Given the description of an element on the screen output the (x, y) to click on. 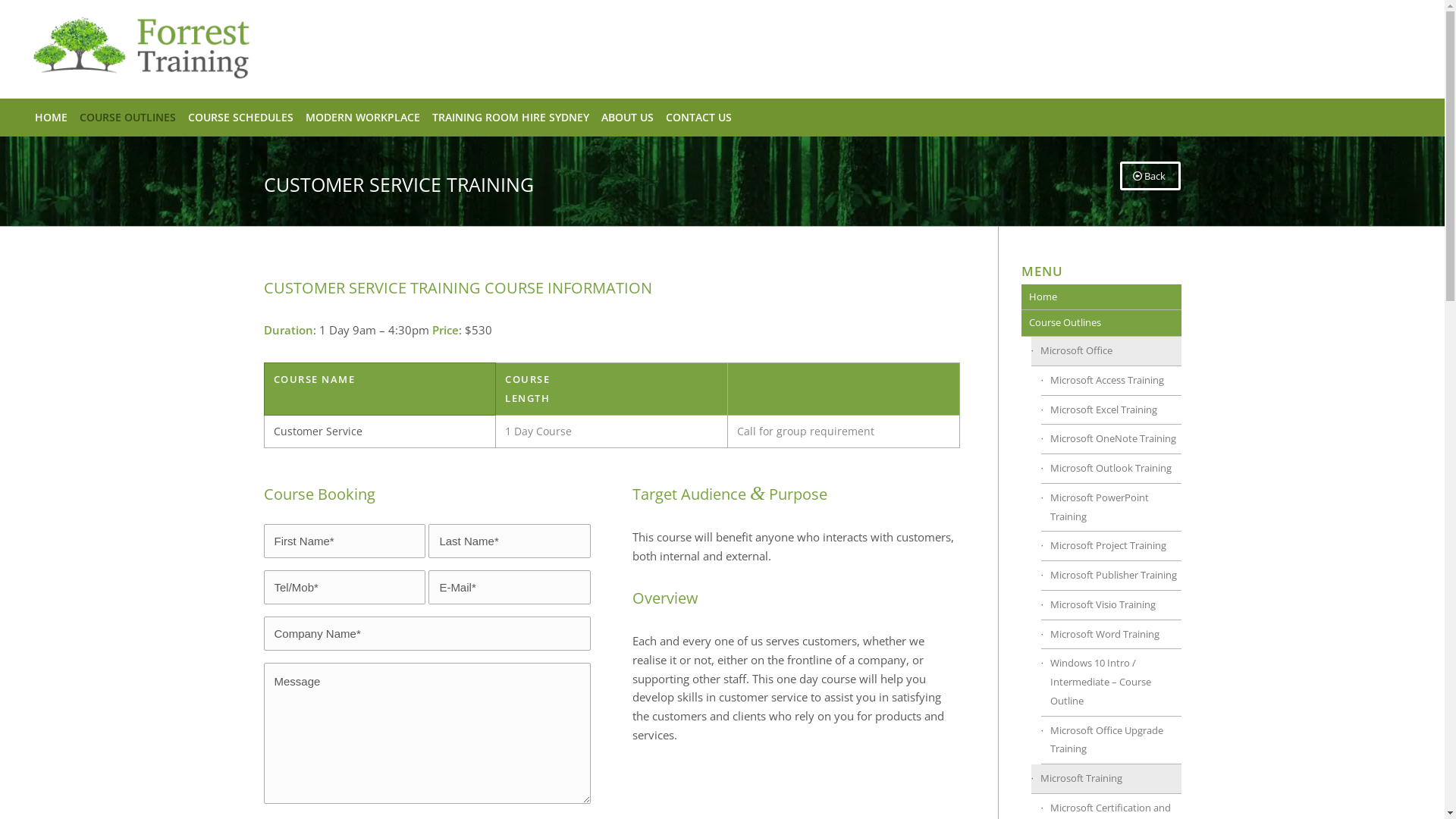
CONTACT US Element type: text (698, 117)
COURSE SCHEDULES Element type: text (240, 117)
Microsoft PowerPoint Training Element type: text (1110, 507)
Microsoft Word Training Element type: text (1110, 634)
Microsoft Outlook Training Element type: text (1110, 468)
Microsoft Project Training Element type: text (1110, 546)
Microsoft Office Upgrade Training Element type: text (1110, 740)
TRAINING ROOM HIRE SYDNEY Element type: text (510, 117)
Back Element type: text (1150, 175)
Microsoft Excel Training Element type: text (1110, 410)
Home Element type: text (1100, 297)
Microsoft Publisher Training Element type: text (1110, 575)
ABOUT US Element type: text (627, 117)
Microsoft Office Element type: text (1106, 351)
HOME Element type: text (50, 117)
Microsoft Training Element type: text (1106, 778)
Microsoft Visio Training Element type: text (1110, 605)
MODERN WORKPLACE Element type: text (362, 117)
Course Outlines Element type: text (1100, 323)
COURSE OUTLINES Element type: text (127, 117)
Microsoft Access Training Element type: text (1110, 380)
Microsoft OneNote Training Element type: text (1110, 439)
